Given the description of an element on the screen output the (x, y) to click on. 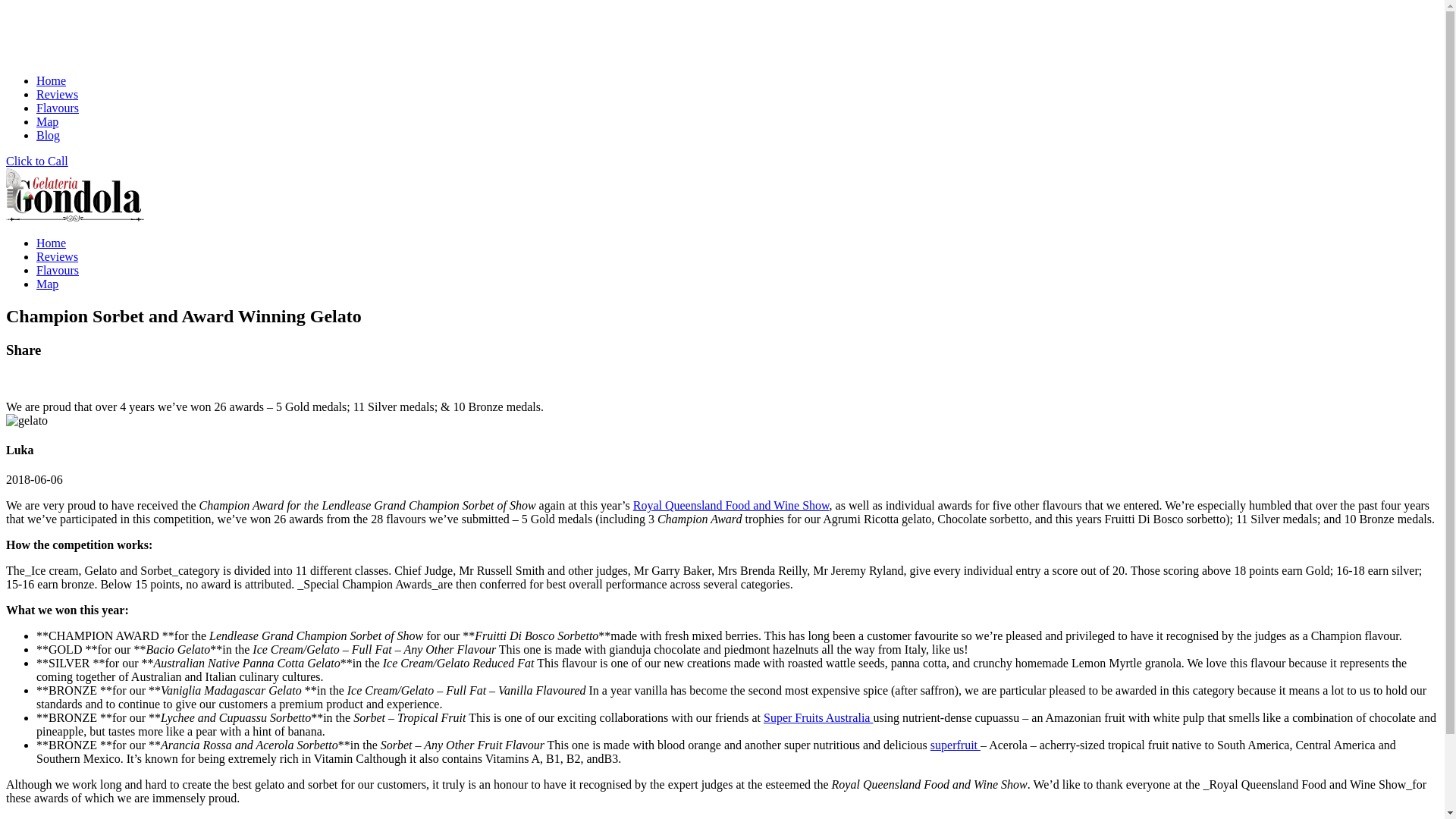
Reviews (57, 256)
Royal Queensland Food and Wine Show (731, 504)
Flavours (57, 107)
Home (50, 242)
Home (50, 80)
Reviews (57, 93)
superfruit  (954, 744)
Map (47, 121)
Super Fruits Australia  (817, 717)
Flavours (57, 269)
